Given the description of an element on the screen output the (x, y) to click on. 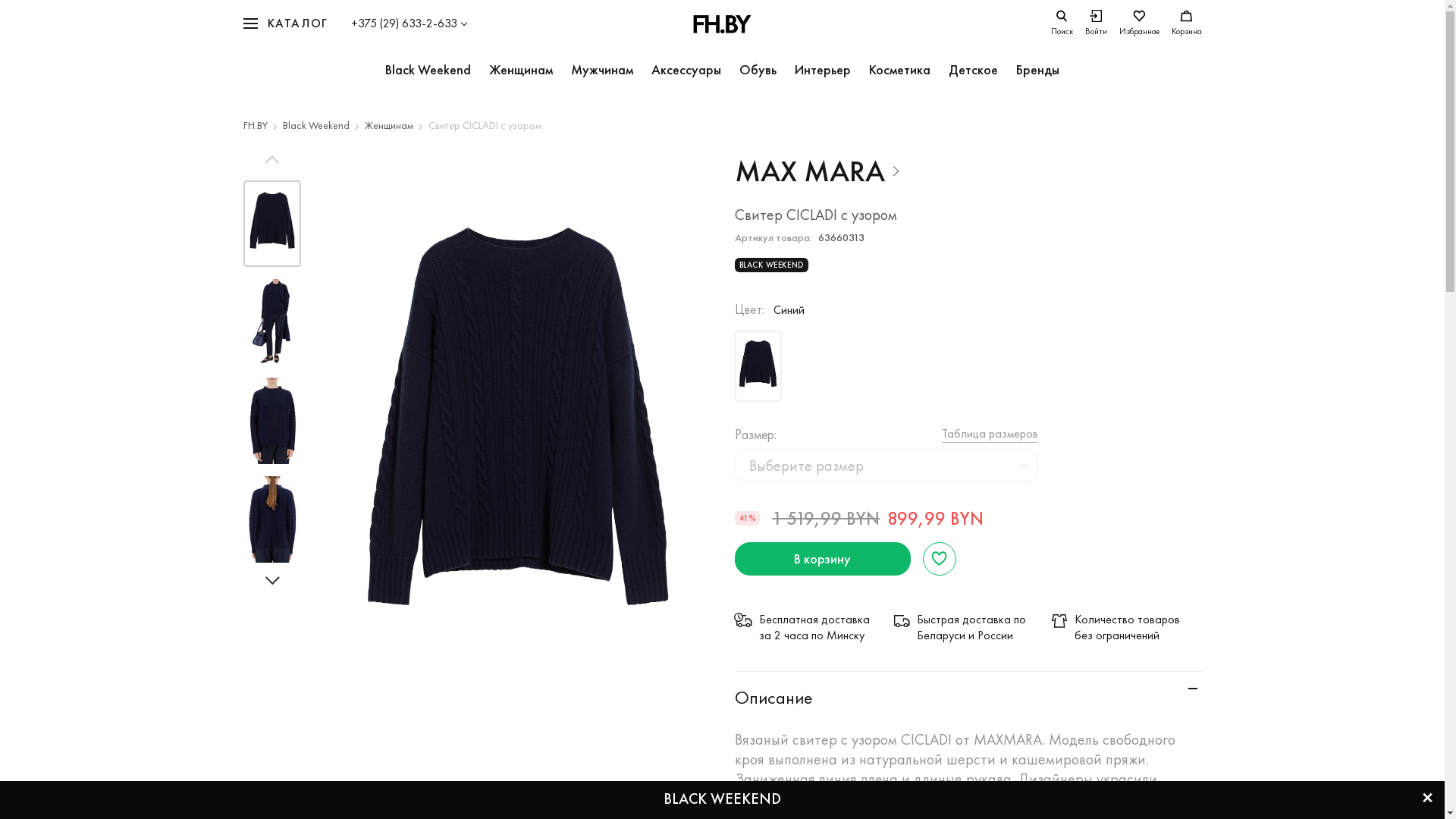
Black Weekend Element type: text (315, 124)
Black Weekend Element type: text (428, 70)
BLACK WEEKEND Element type: text (722, 798)
FH.BY Element type: text (254, 124)
MAX
MARA Element type: text (817, 171)
+375 (29) 633-2-633 Element type: text (408, 23)
